Given the description of an element on the screen output the (x, y) to click on. 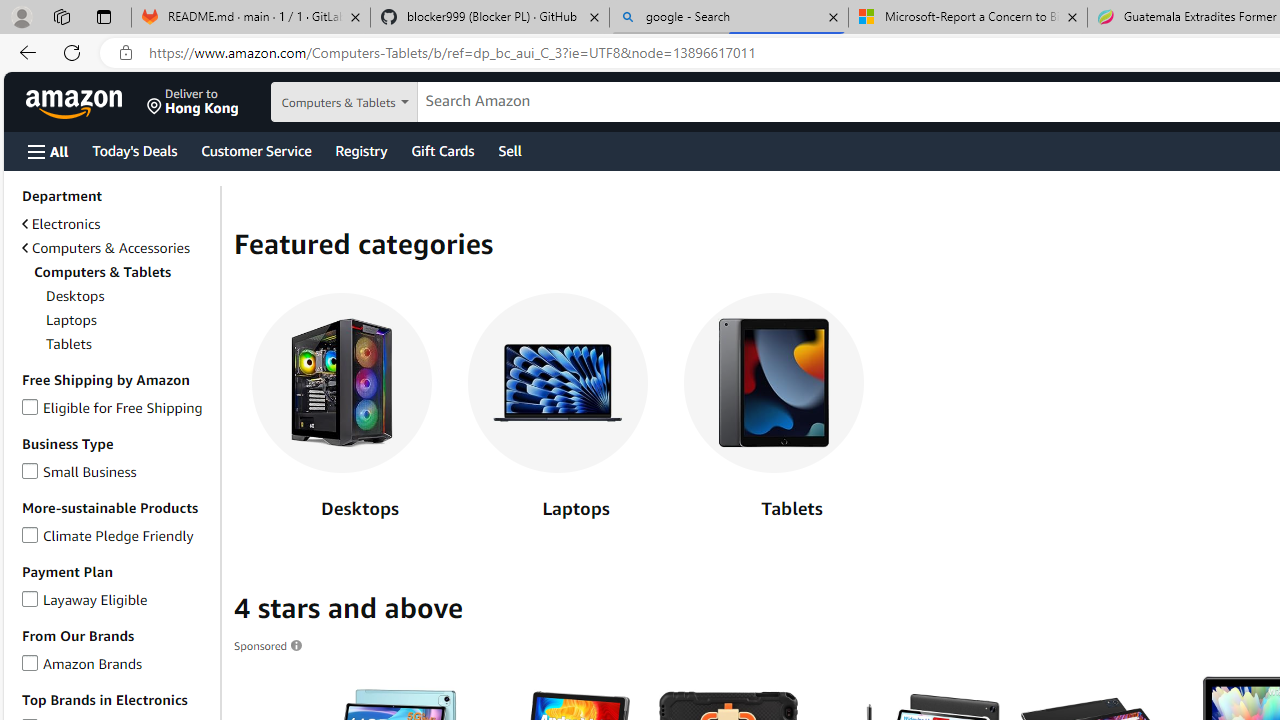
Gift Cards (442, 150)
Laptops (557, 383)
Desktops (342, 411)
Climate Pledge Friendly Climate Pledge Friendly (107, 534)
Computers & Tablets (117, 272)
Amazon (76, 101)
Registry (360, 150)
Layaway EligibleLayaway Eligible (117, 599)
Search in (371, 102)
google - Search (729, 17)
Small BusinessSmall Business (117, 471)
Today's Deals (134, 150)
Layaway Eligible (29, 596)
